Given the description of an element on the screen output the (x, y) to click on. 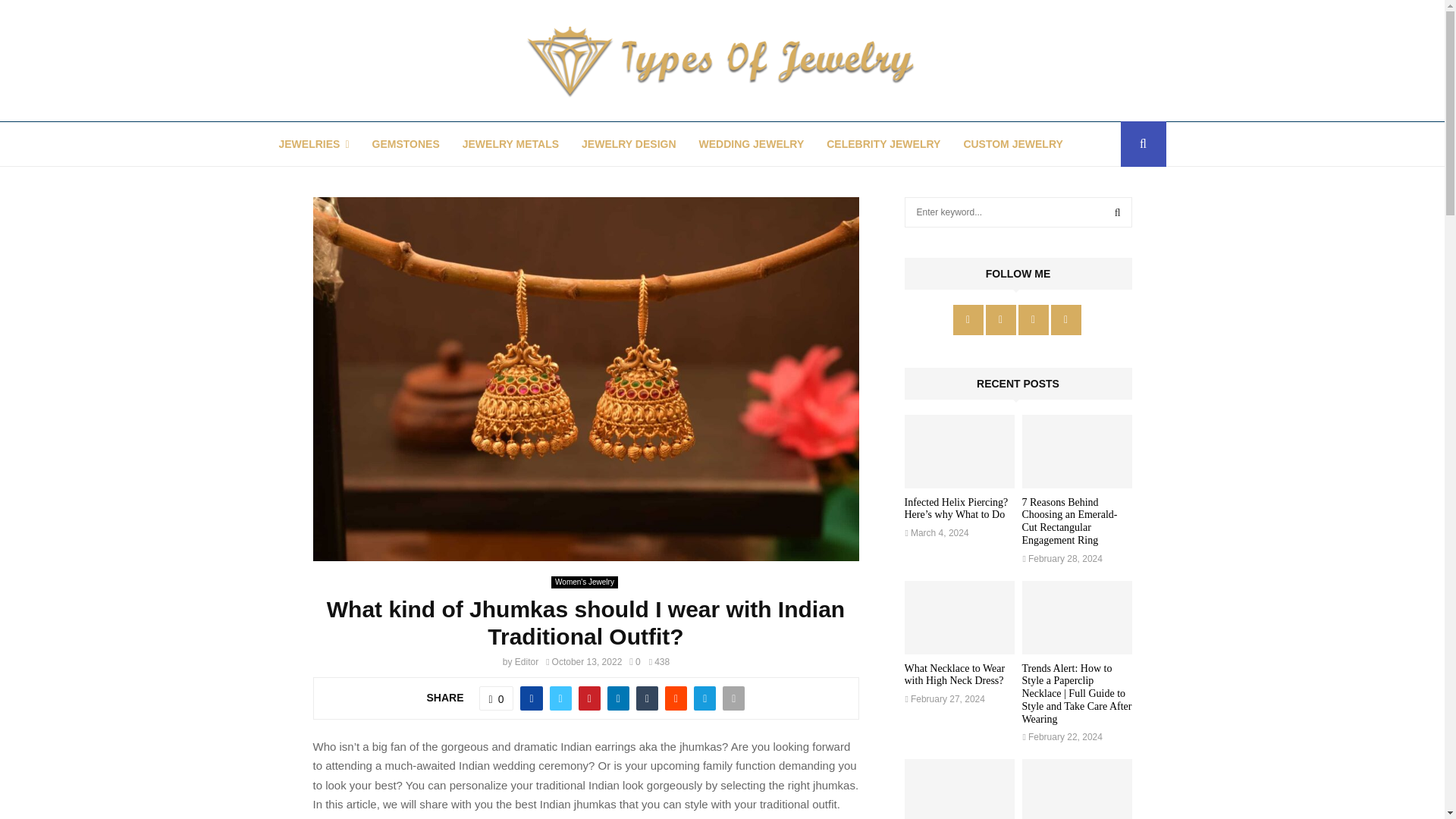
CELEBRITY JEWELRY (883, 144)
WEDDING JEWELRY (751, 144)
JEWELRY DESIGN (627, 144)
Like (496, 698)
JEWELRIES (314, 144)
0 (634, 661)
Women's Jewelry (584, 582)
CUSTOM JEWELRY (1012, 144)
JEWELRY METALS (511, 144)
GEMSTONES (405, 144)
